Given the description of an element on the screen output the (x, y) to click on. 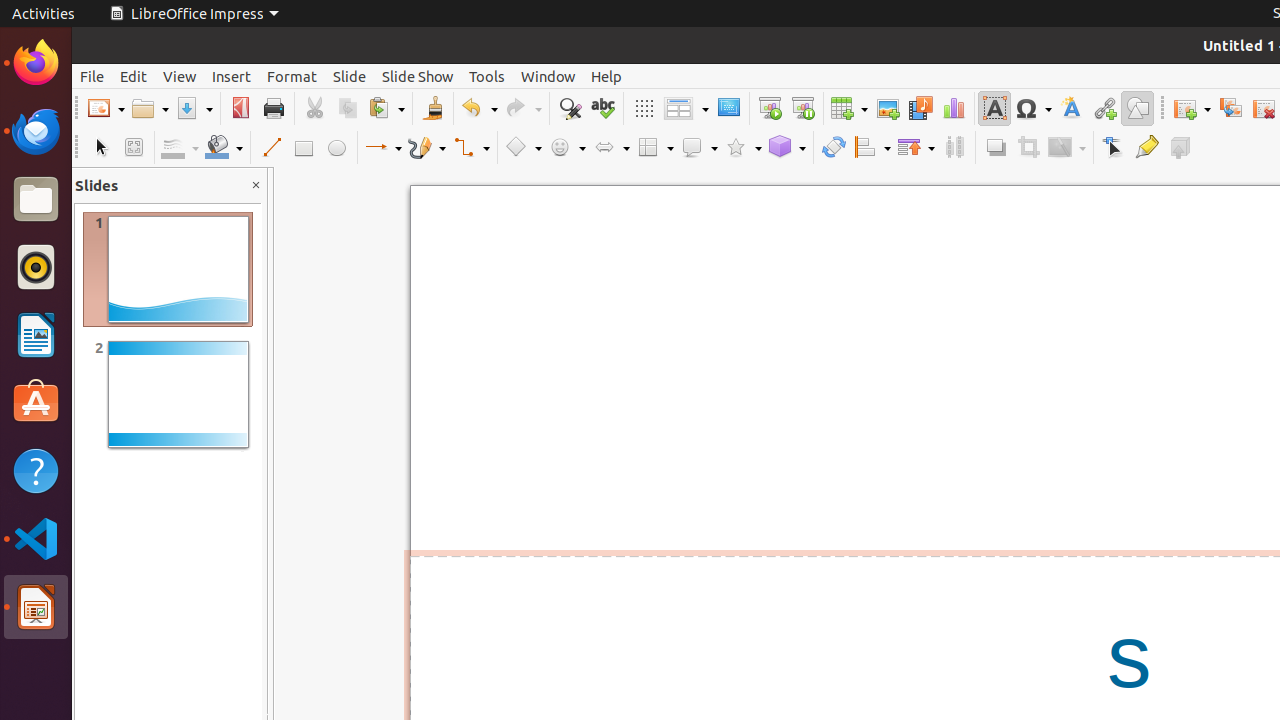
Duplicate Slide Element type: push-button (1230, 108)
Undo Element type: push-button (479, 108)
Edit Element type: menu (133, 76)
Ubuntu Software Element type: push-button (36, 402)
Star Shapes Element type: push-button (743, 147)
